Given the description of an element on the screen output the (x, y) to click on. 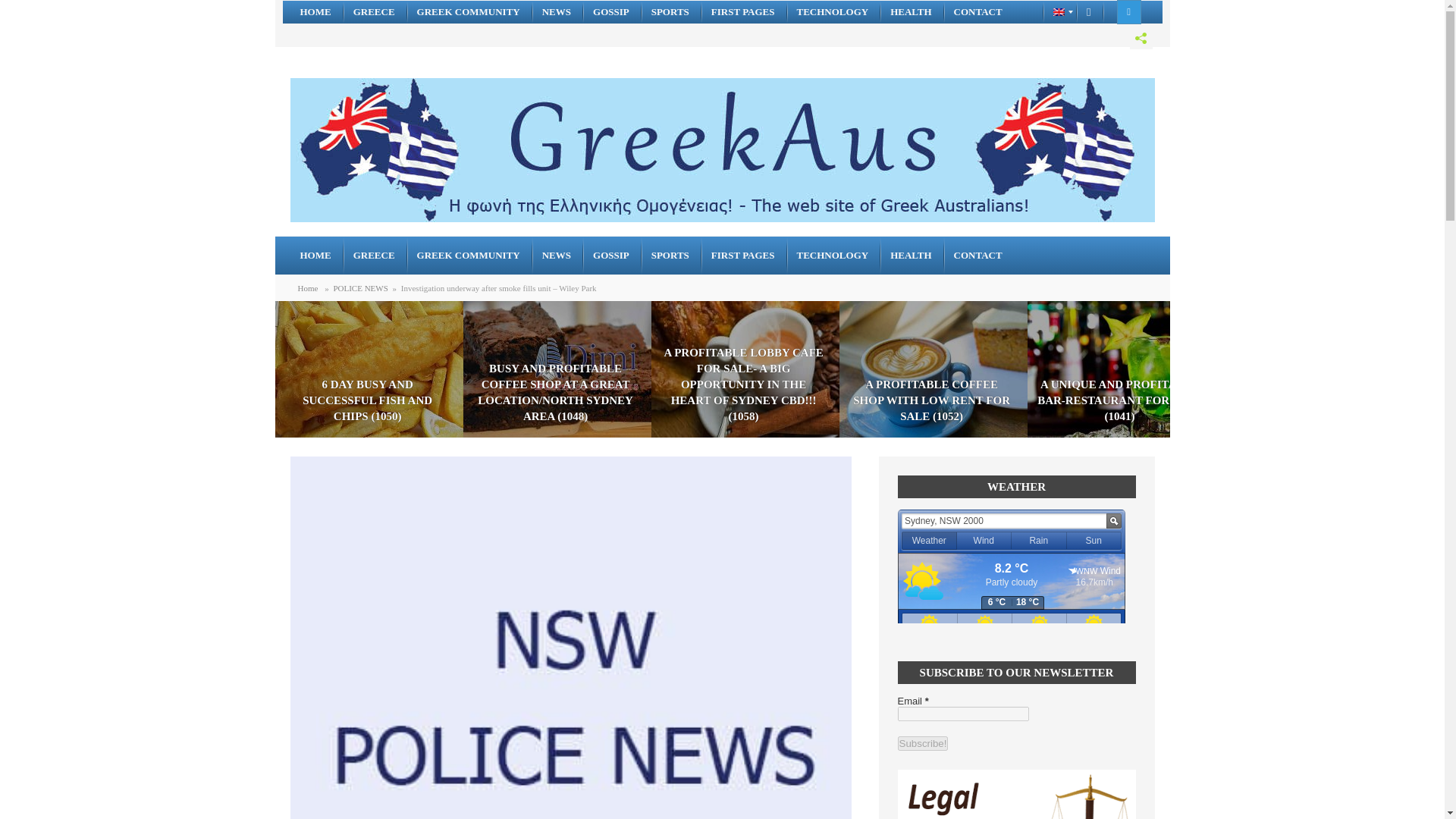
CONTACT (978, 11)
GREECE (375, 255)
GREEK COMMUNITY (469, 255)
Search (11, 9)
HEALTH (911, 255)
HOME (315, 255)
FIRST PAGES (744, 11)
HEALTH (911, 11)
GOSSIP (612, 255)
HOME (315, 11)
TECHNOLOGY (833, 255)
FIRST PAGES (744, 255)
NEWS (557, 255)
CONTACT (978, 255)
NEWS (557, 11)
